Given the description of an element on the screen output the (x, y) to click on. 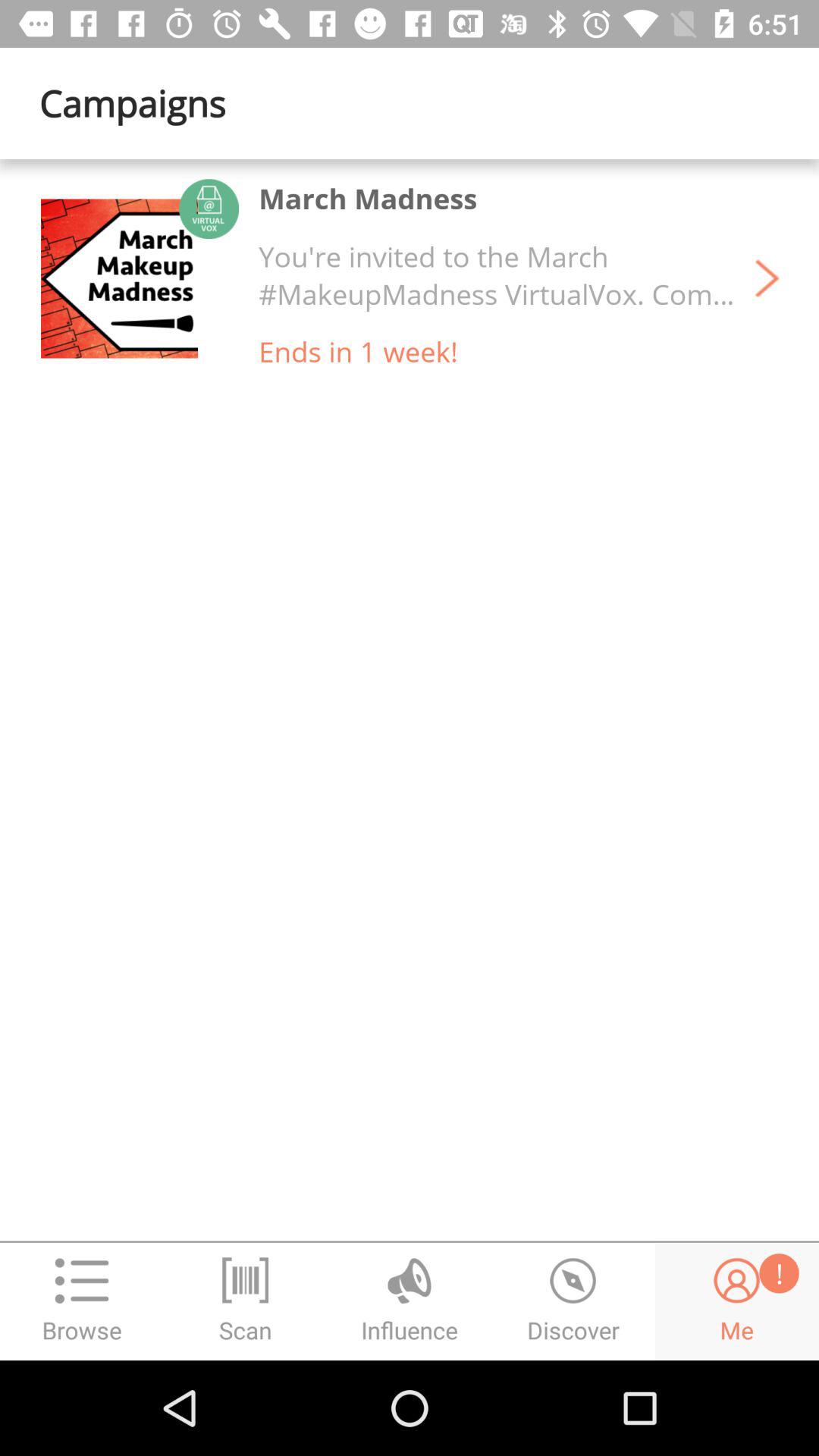
select the icon next to march madness (138, 278)
